Given the description of an element on the screen output the (x, y) to click on. 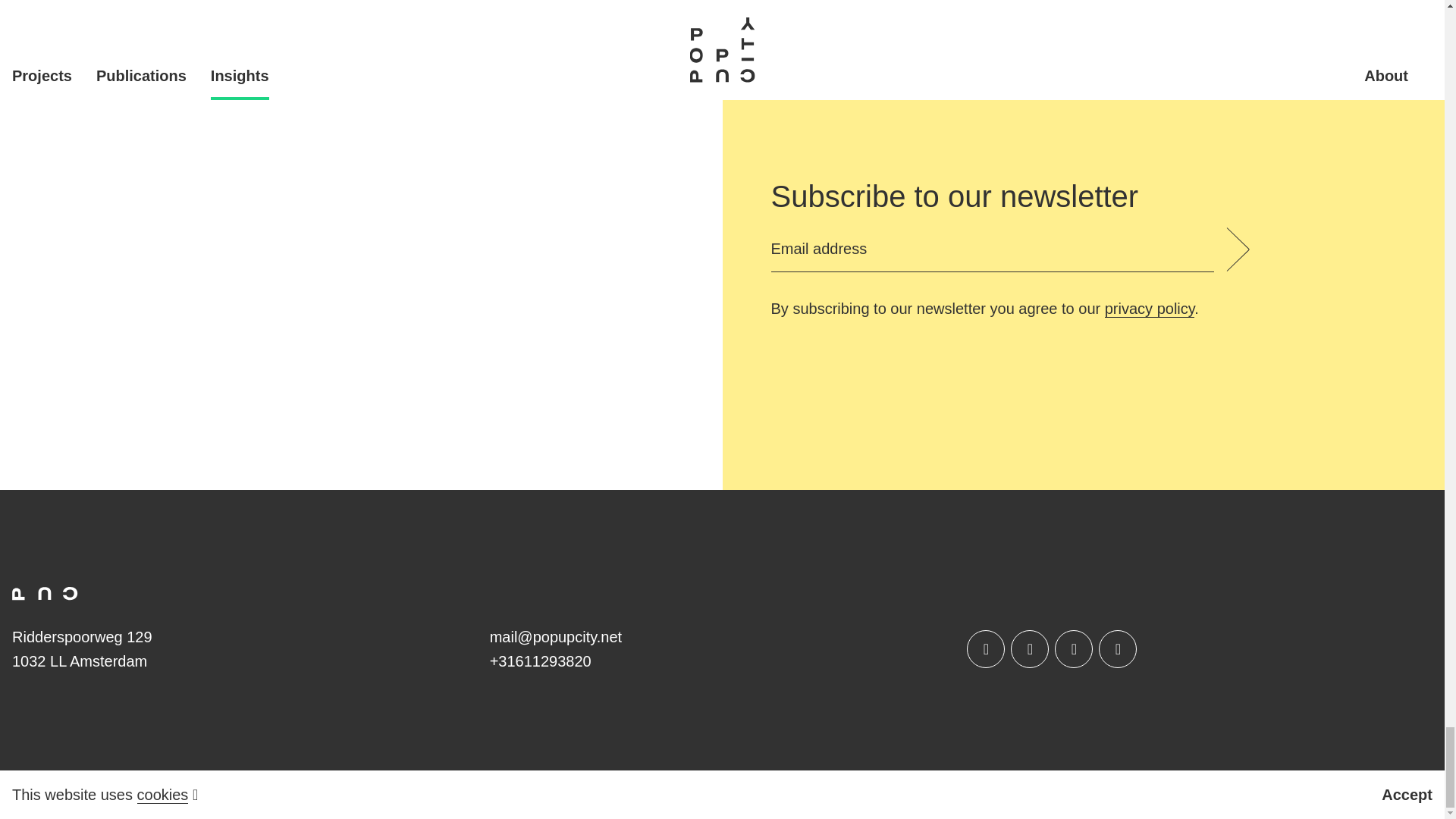
Pop-Up City on Instagram (1029, 648)
Pop-Up City (44, 593)
Phone (540, 661)
Privacy policy (1150, 308)
privacy policy (1150, 308)
E-mail (555, 637)
Pop-Up City on Facebook (985, 648)
